Given the description of an element on the screen output the (x, y) to click on. 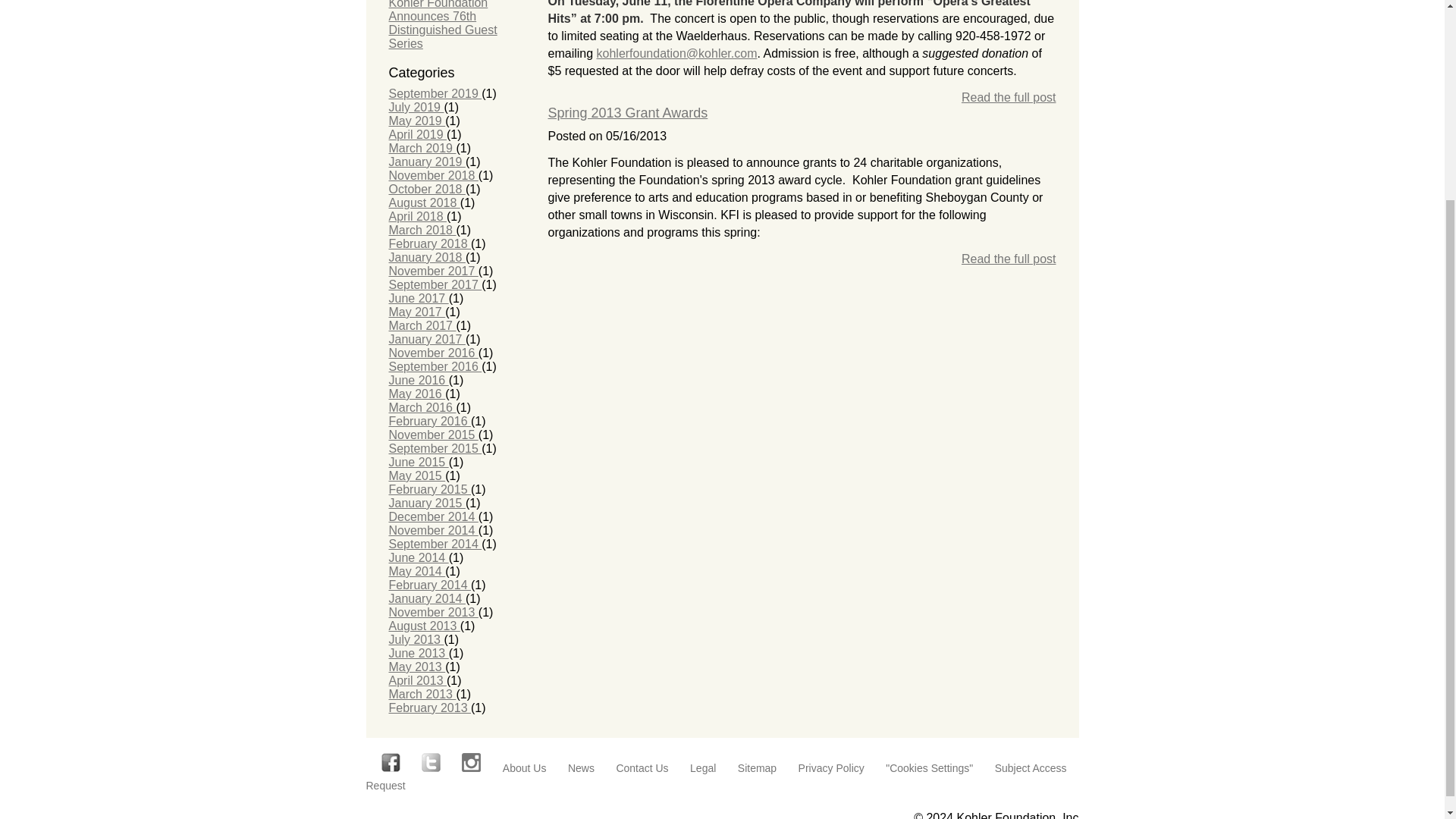
Spring 2013 Grant Awards (627, 112)
November 2016 (432, 352)
October 2018 (426, 188)
February 2018 (429, 243)
March 2018 (421, 229)
News (589, 767)
April 2018 (417, 215)
June 2017 (418, 297)
Read Full Post (1008, 97)
Read Full Post (1008, 258)
